Given the description of an element on the screen output the (x, y) to click on. 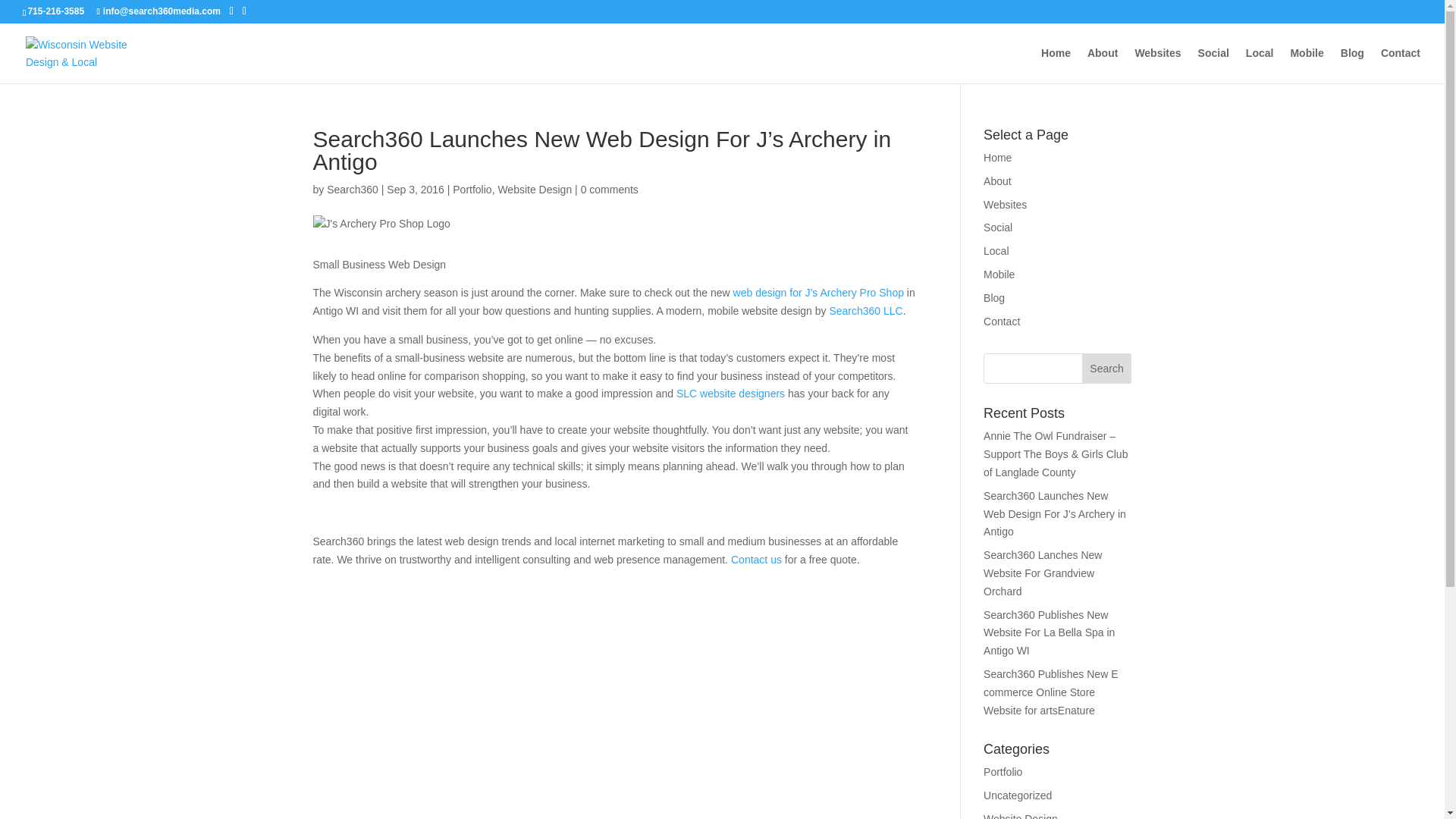
Contact us (755, 559)
Mobile (1306, 65)
About (997, 181)
Search (1106, 368)
Search (1106, 368)
Uncategorized (1017, 795)
Contact (1002, 321)
0 comments (609, 189)
Blog (994, 297)
SLC website designers (730, 393)
